Given the description of an element on the screen output the (x, y) to click on. 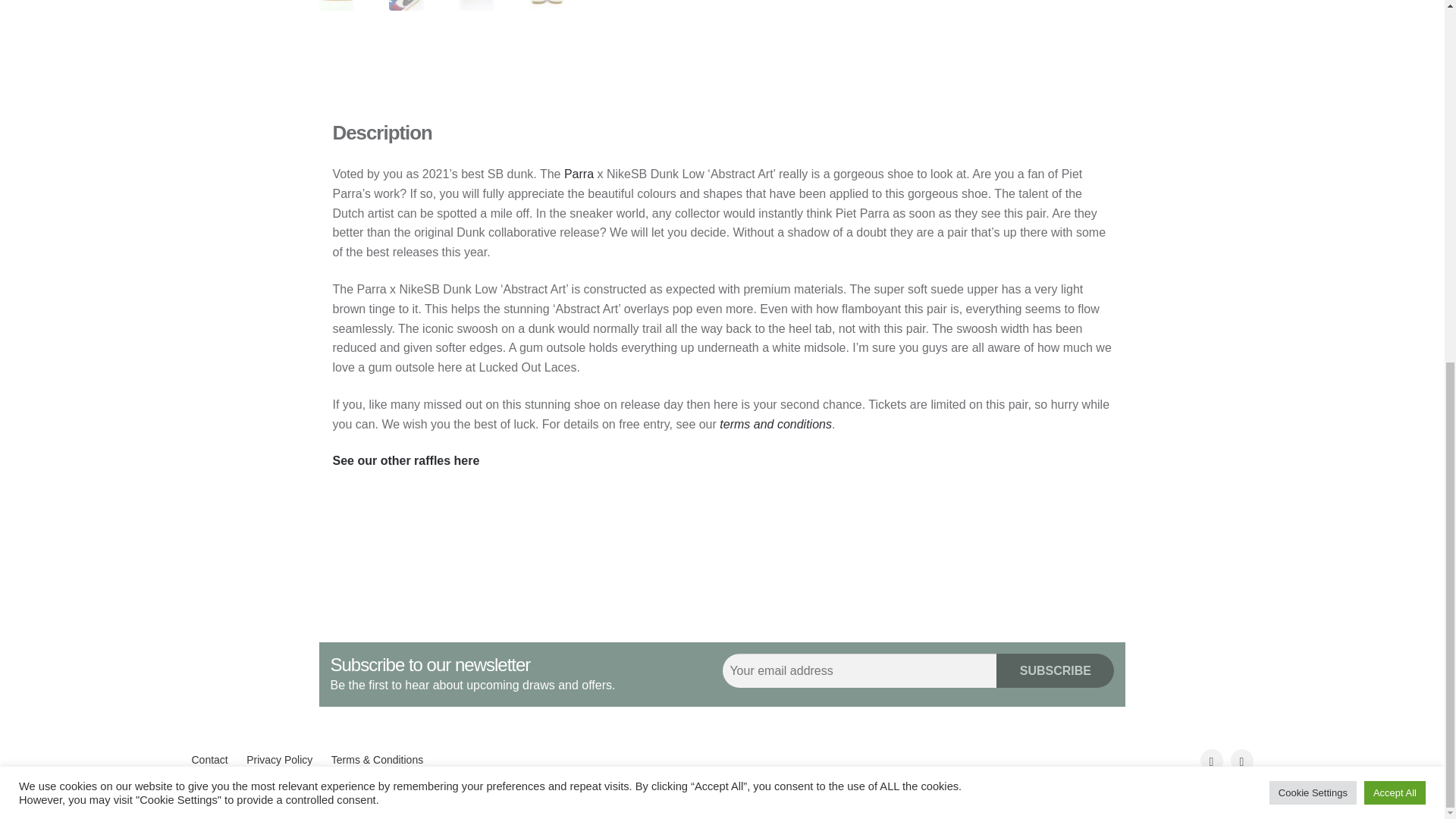
terms and conditions (773, 423)
Parra (577, 173)
Subscribe (1054, 670)
See our other raffles here (406, 460)
